Given the description of an element on the screen output the (x, y) to click on. 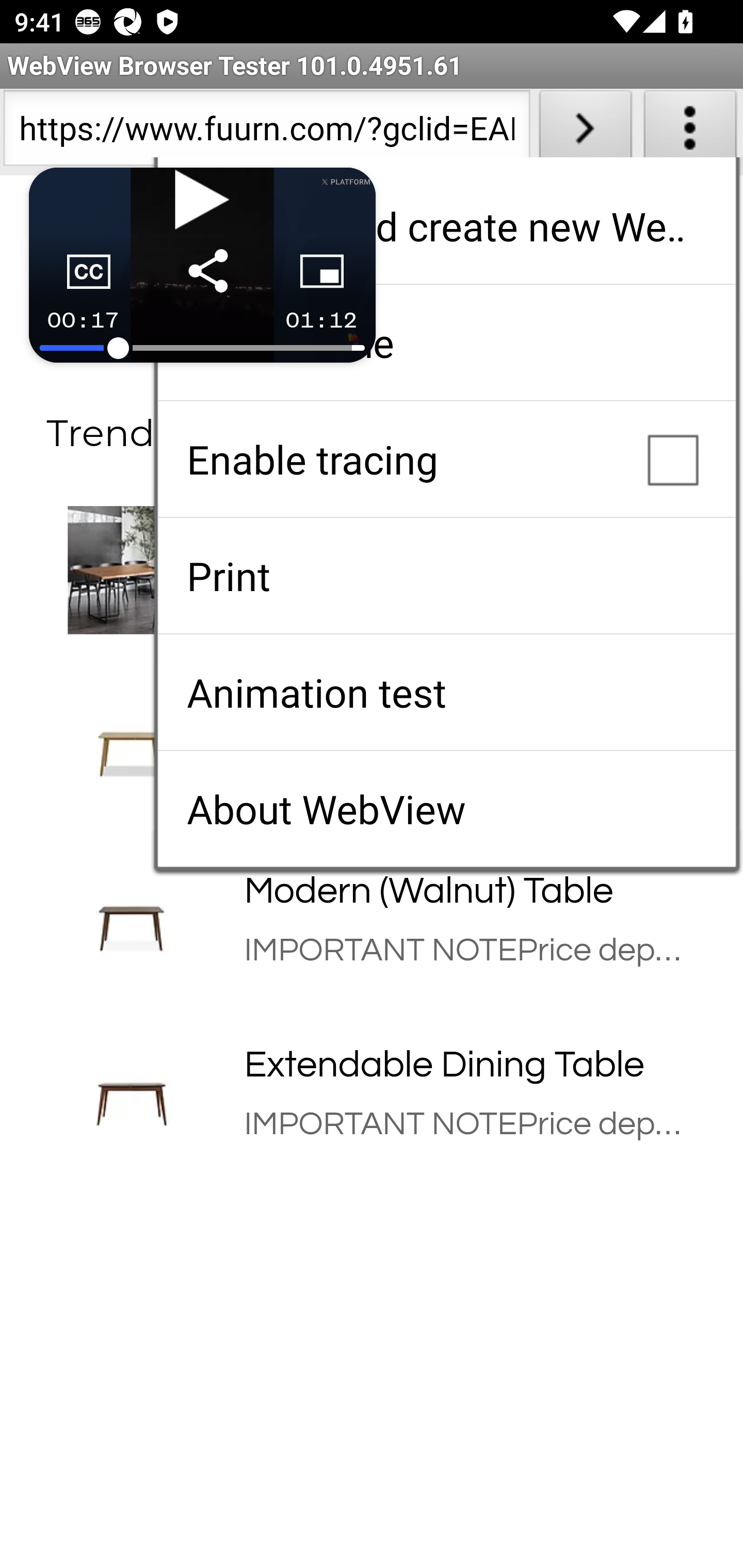
Enable tracing (446, 459)
Print (446, 575)
Animation test (446, 692)
About WebView (446, 809)
